Given the description of an element on the screen output the (x, y) to click on. 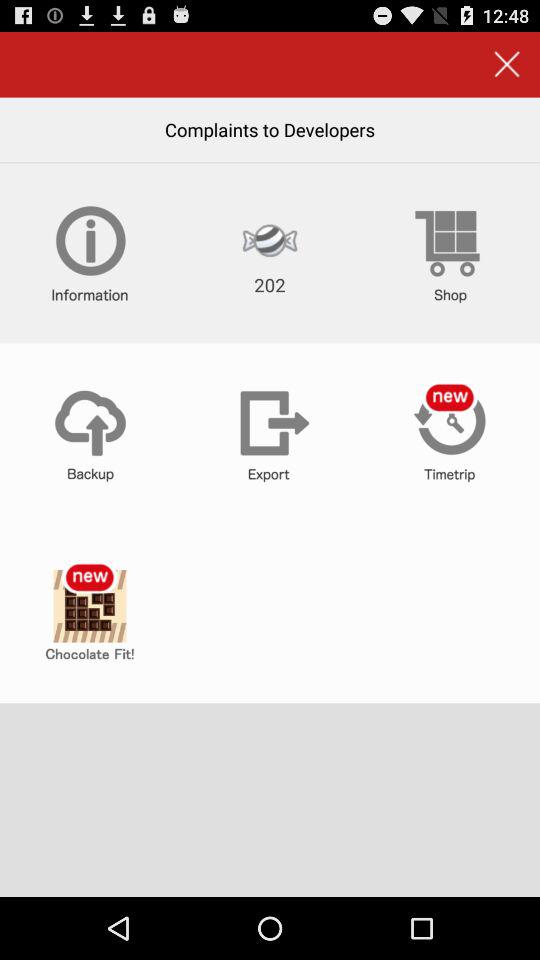
flip to the complaints to developers (270, 129)
